Given the description of an element on the screen output the (x, y) to click on. 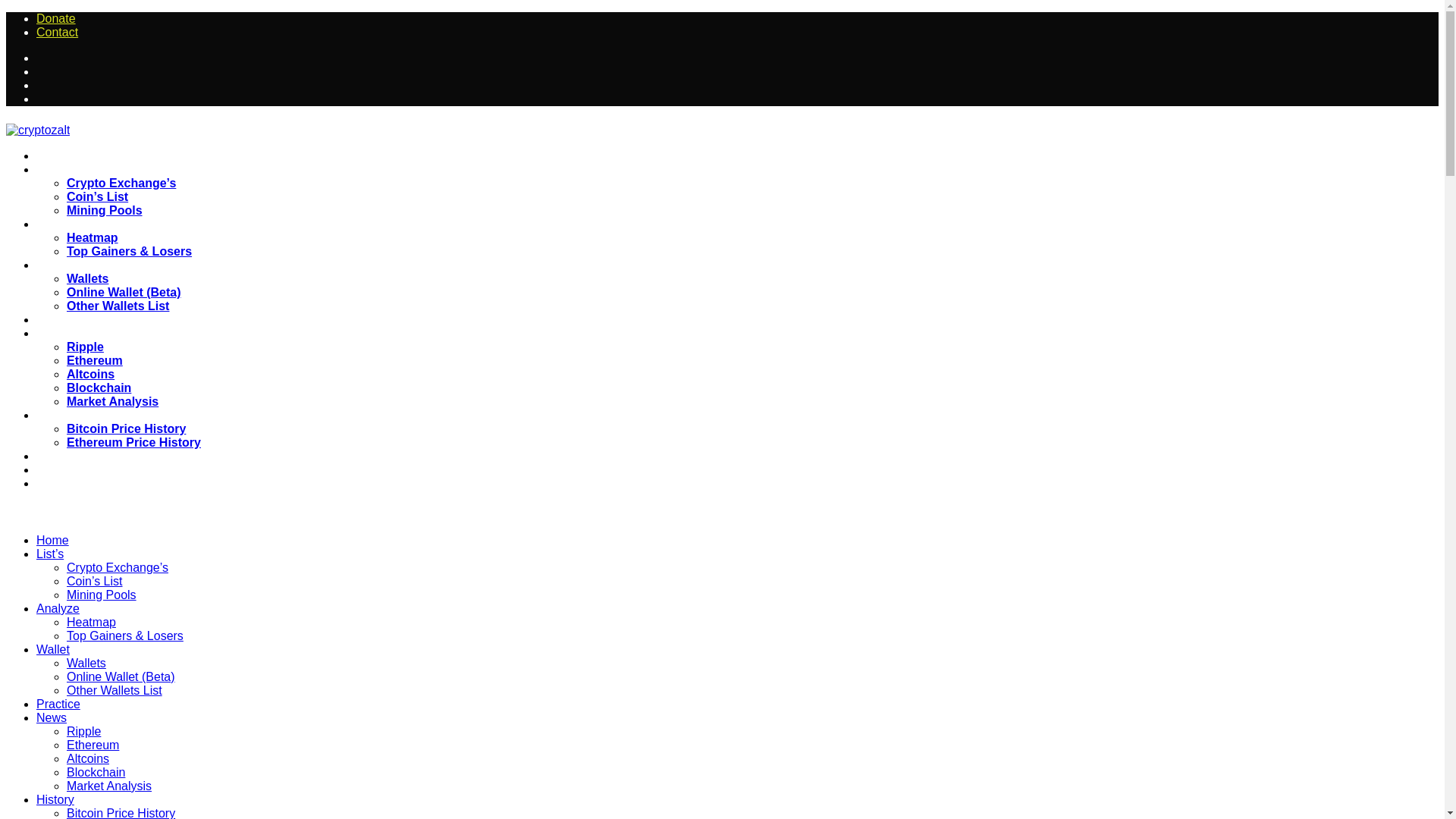
Practice (63, 319)
History (62, 415)
Trade Crypto (76, 470)
Analyze (63, 224)
Wallet (60, 265)
Home (52, 540)
Contact (57, 31)
Ethereum Price History (133, 441)
Blockchain (98, 387)
